Given the description of an element on the screen output the (x, y) to click on. 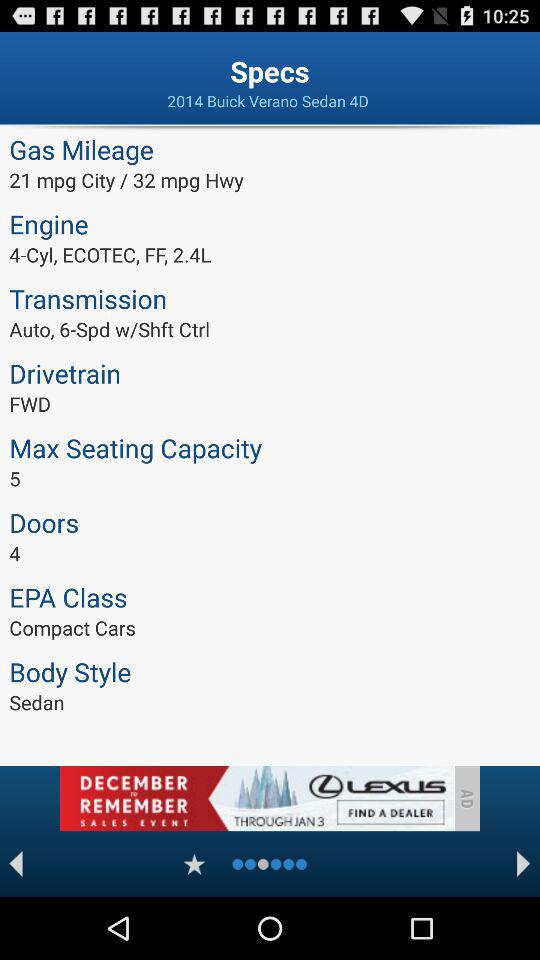
advertisement (256, 798)
